Given the description of an element on the screen output the (x, y) to click on. 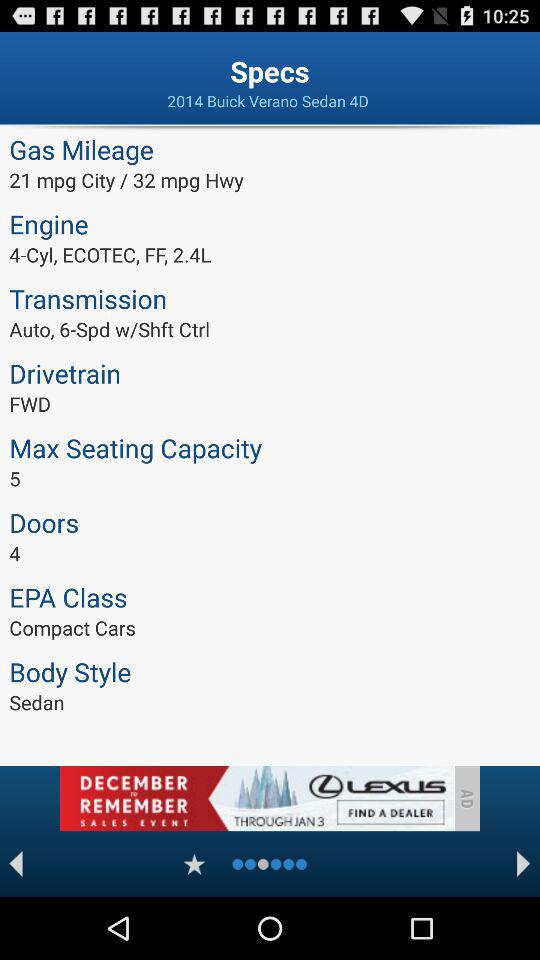
advertisement (256, 798)
